Given the description of an element on the screen output the (x, y) to click on. 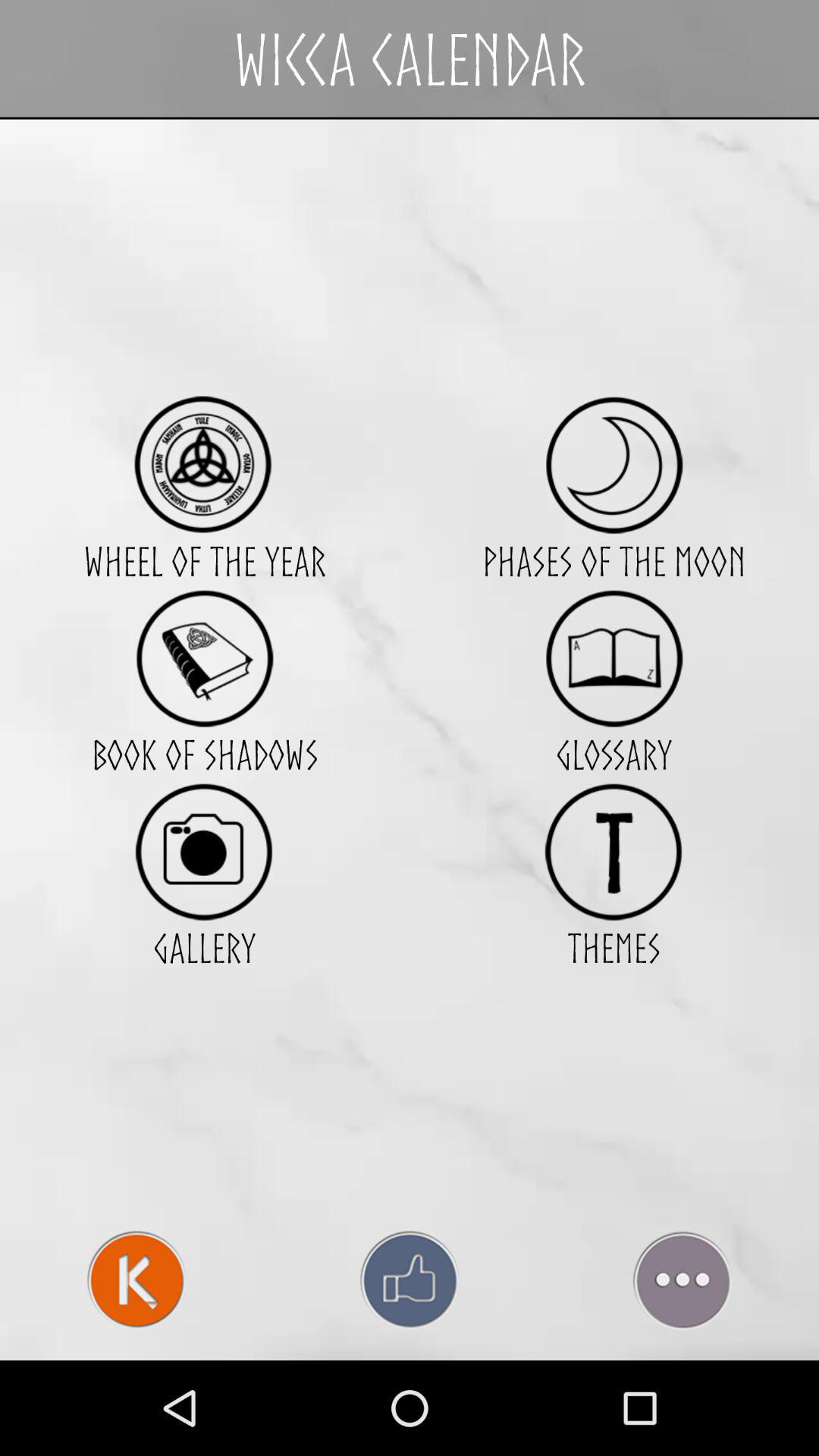
click the item above book of shadows icon (204, 658)
